Given the description of an element on the screen output the (x, y) to click on. 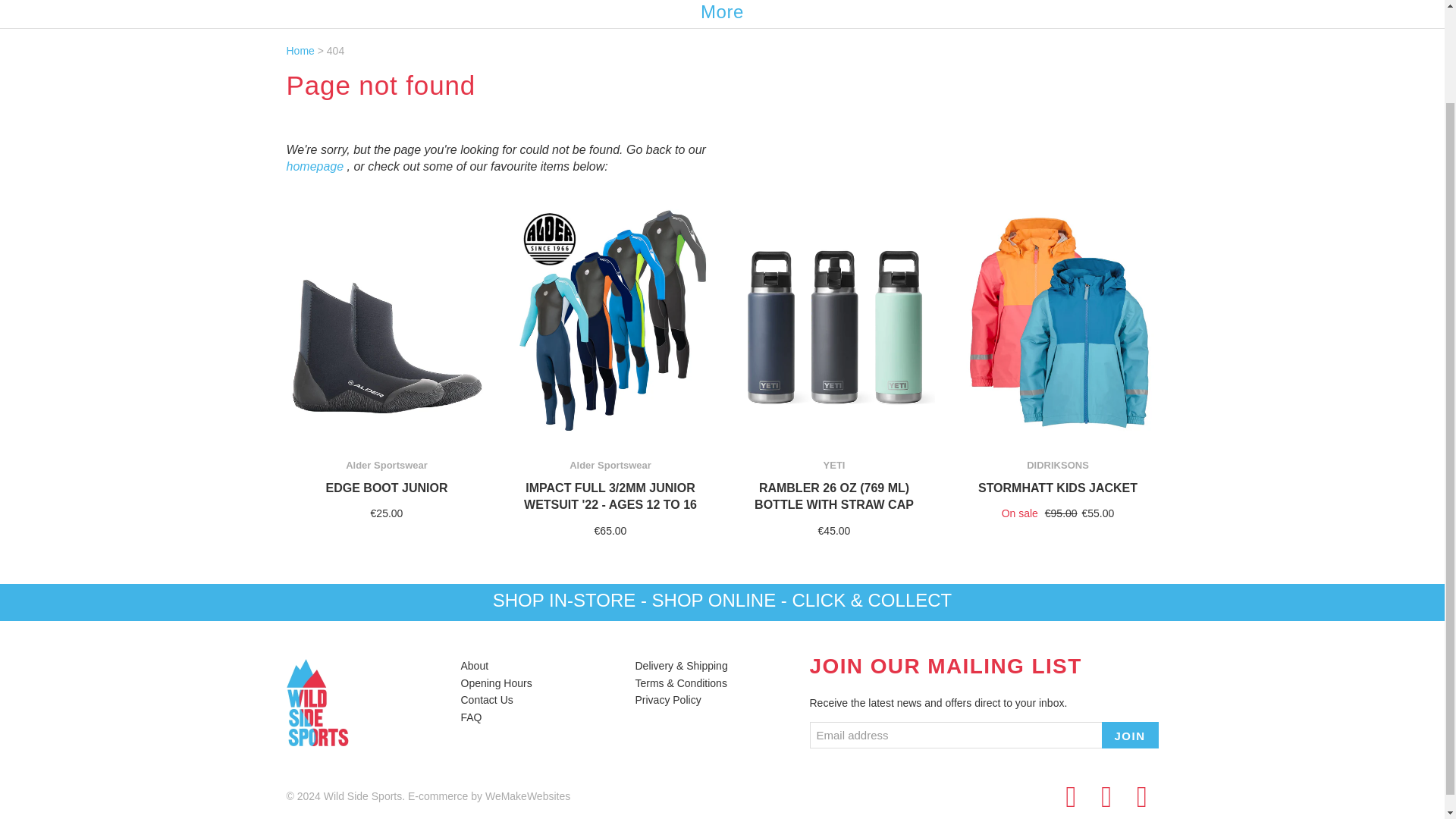
YETI (834, 464)
Alder Sportswear (609, 464)
Alder Sportswear (387, 464)
Join (1128, 734)
DIDRIKSONS (1057, 464)
